Given the description of an element on the screen output the (x, y) to click on. 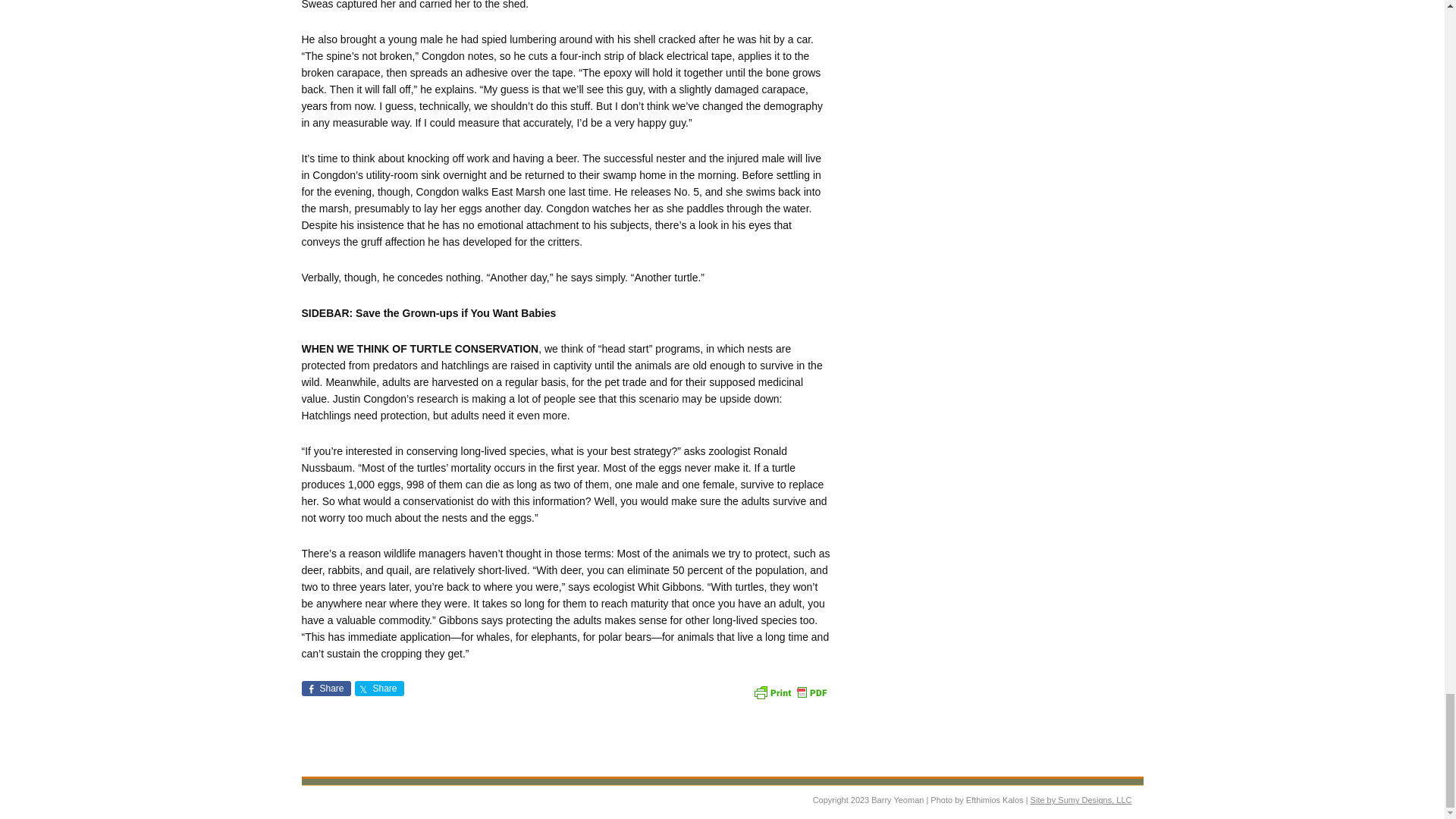
Share (379, 688)
Share (325, 688)
